Given the description of an element on the screen output the (x, y) to click on. 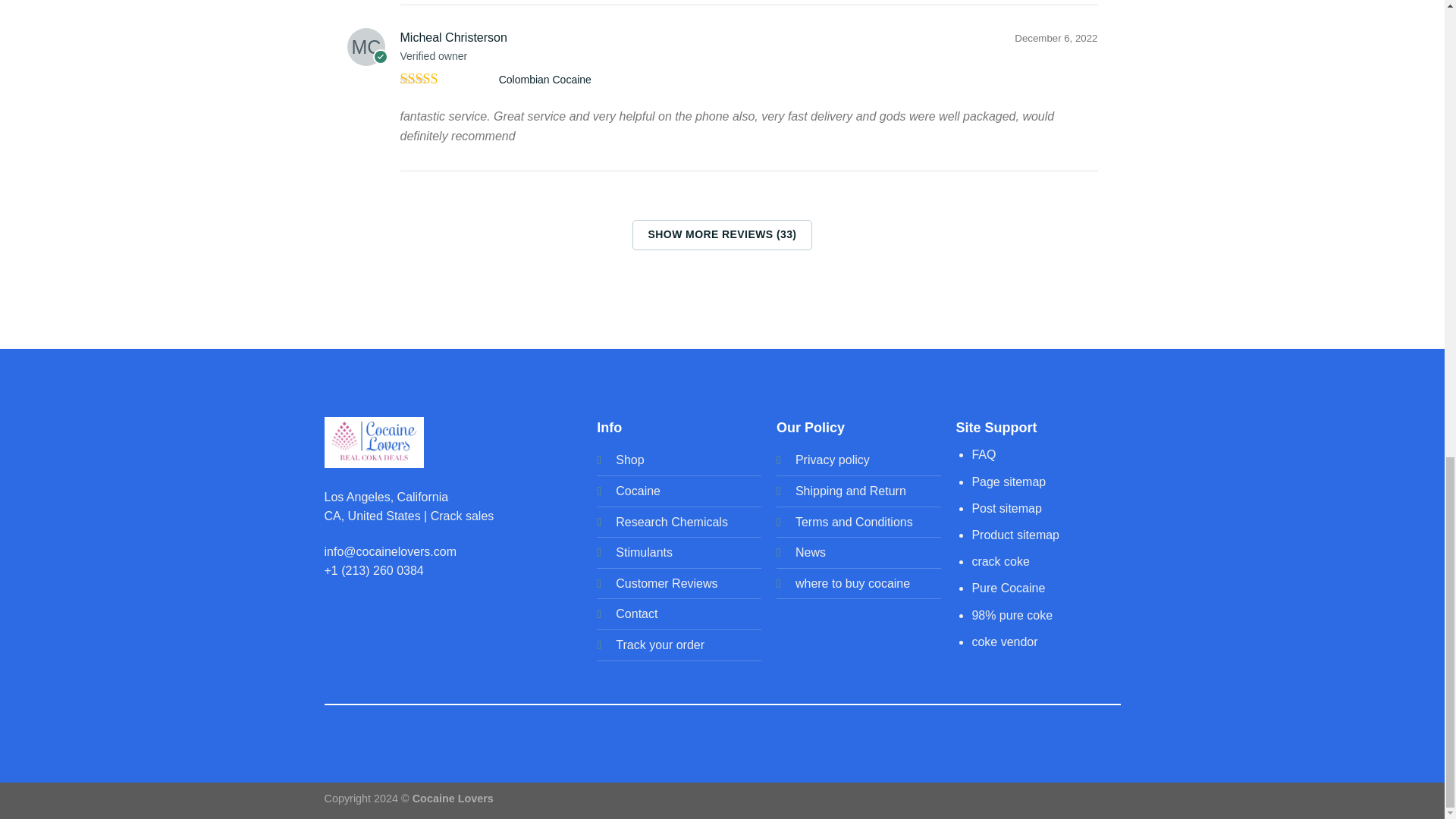
Shop (629, 459)
Colombian Cocaine (545, 79)
Stimulants (643, 552)
Crack sales (462, 515)
Research Chemicals (671, 521)
Colombian Cocaine (545, 79)
Cocaine (638, 490)
